Given the description of an element on the screen output the (x, y) to click on. 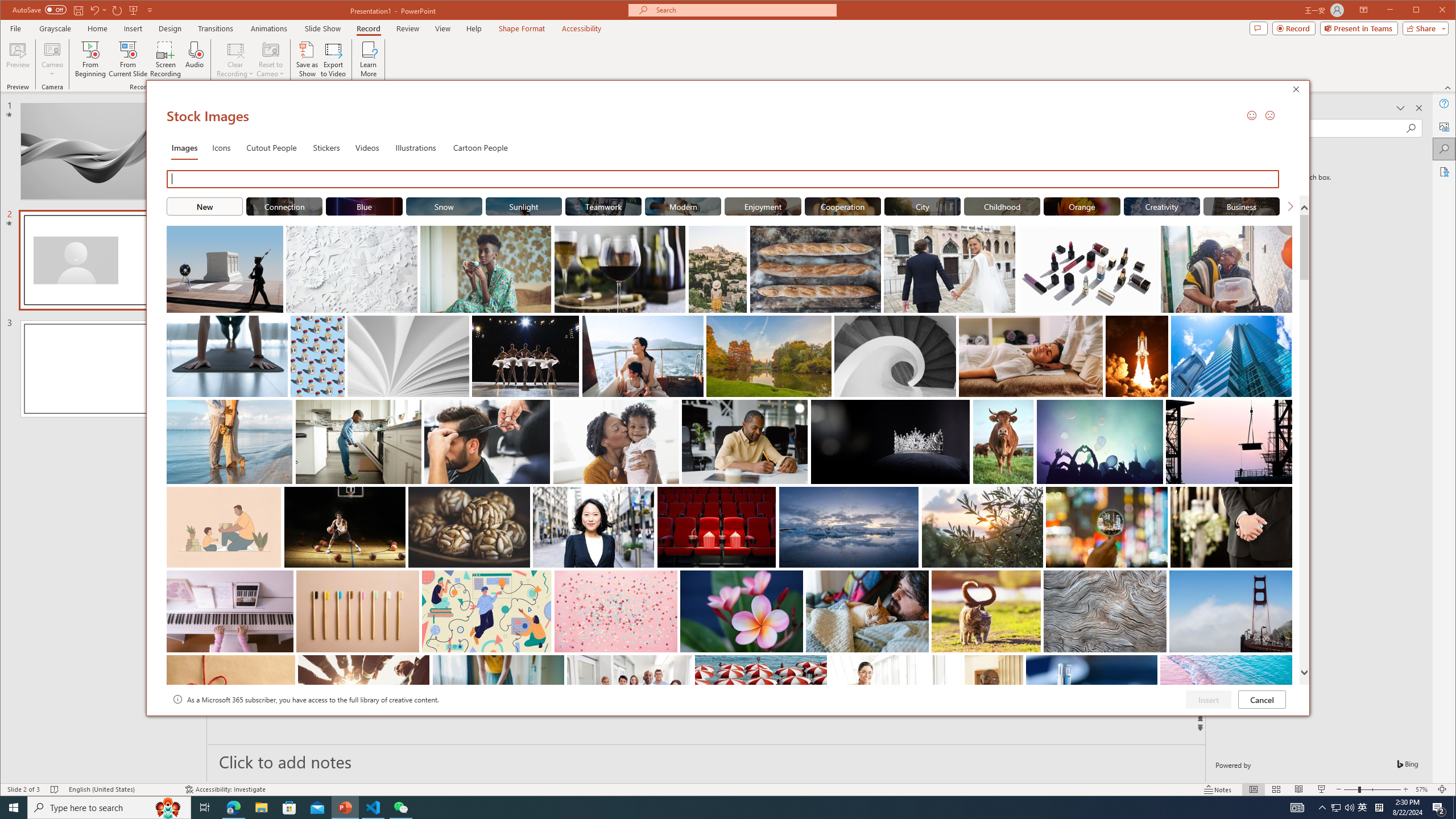
"Teamwork" Stock Images. (603, 206)
Videos (367, 147)
